Given the description of an element on the screen output the (x, y) to click on. 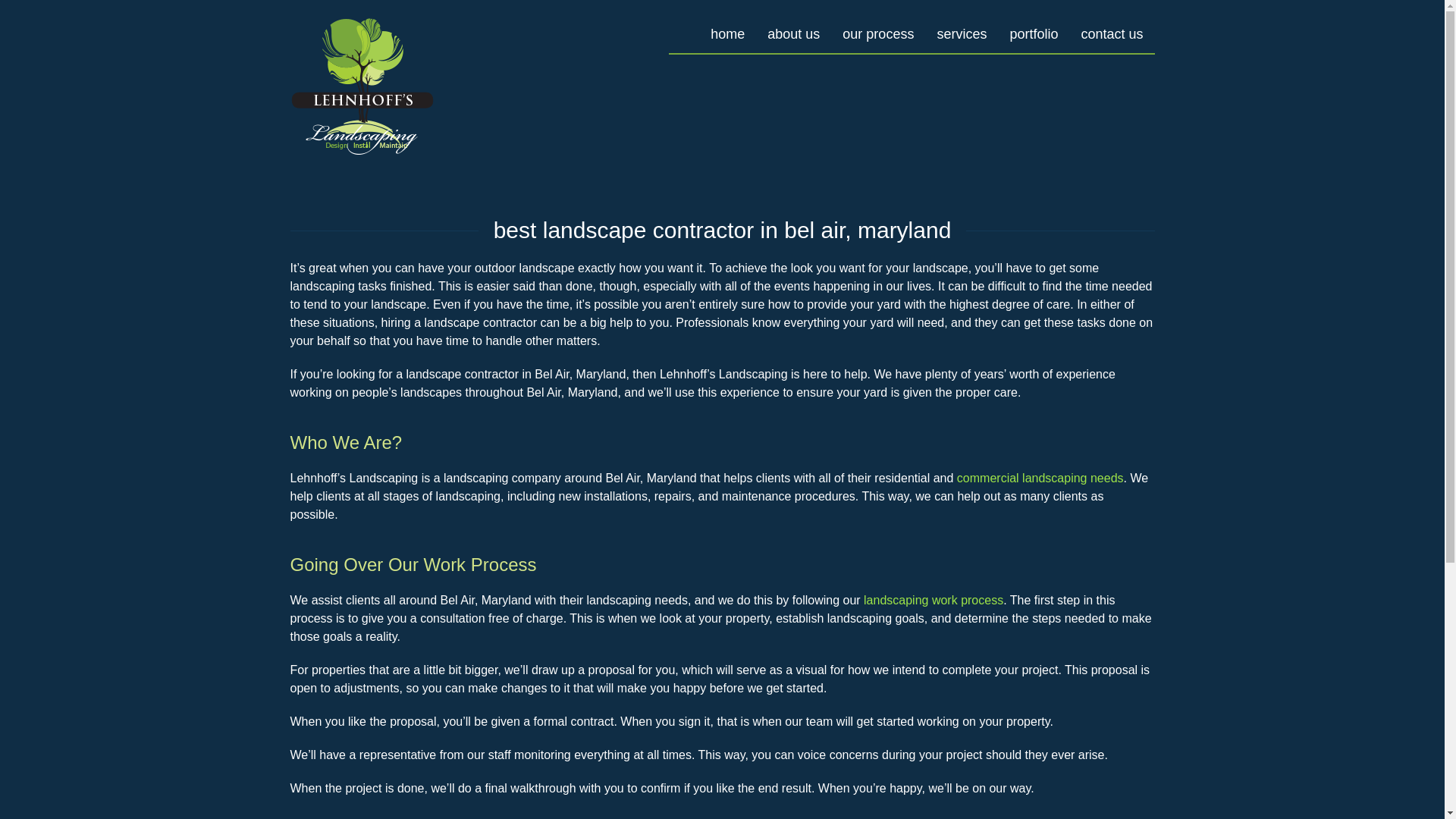
landscaping work process (933, 599)
home (726, 34)
Lehnhoffs (363, 86)
our process (877, 34)
portfolio (1032, 34)
about us (793, 34)
contact us (1111, 34)
commercial landscaping needs (1040, 477)
services (960, 34)
